Given the description of an element on the screen output the (x, y) to click on. 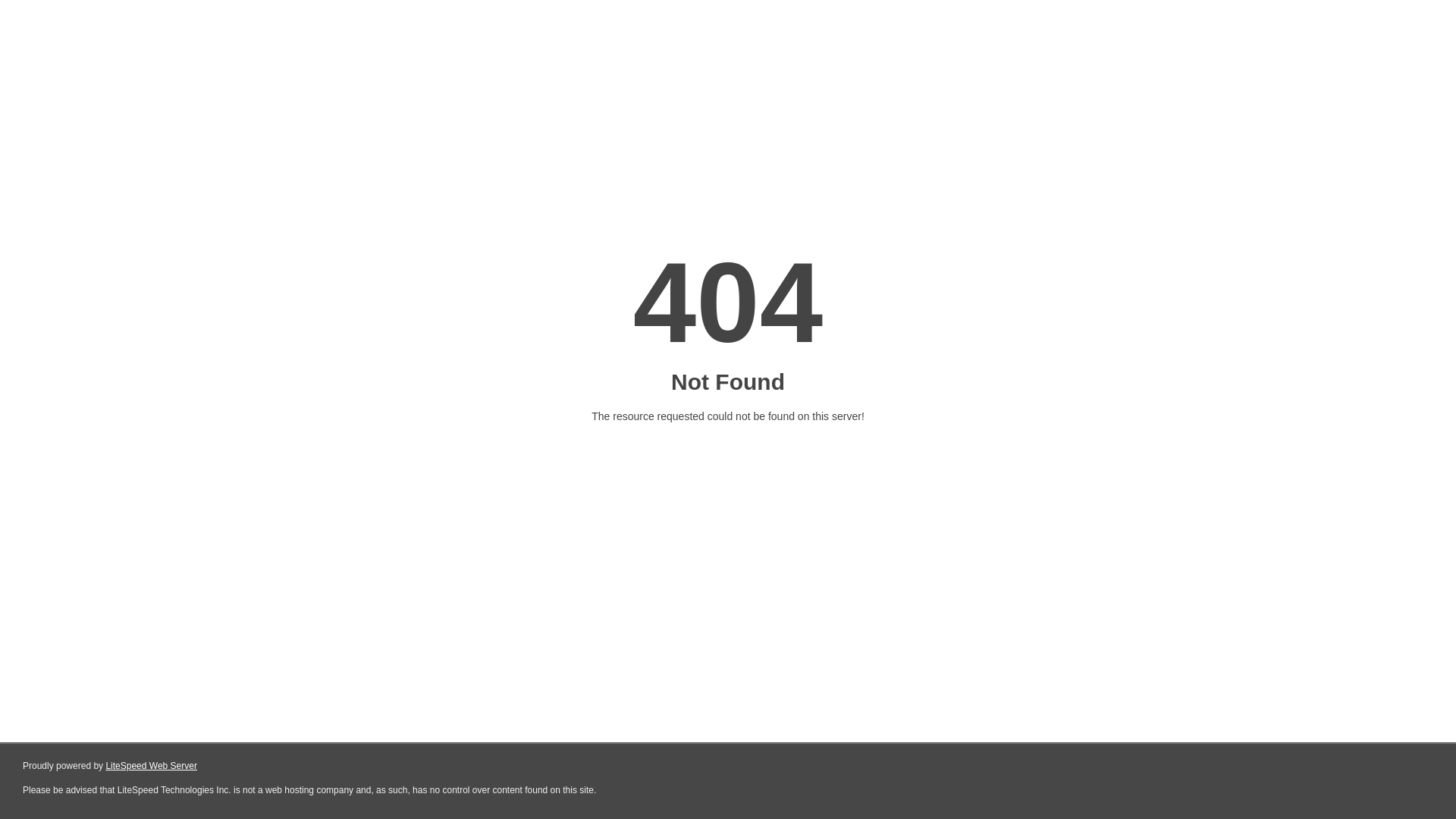
LiteSpeed Web Server Element type: text (151, 765)
